Given the description of an element on the screen output the (x, y) to click on. 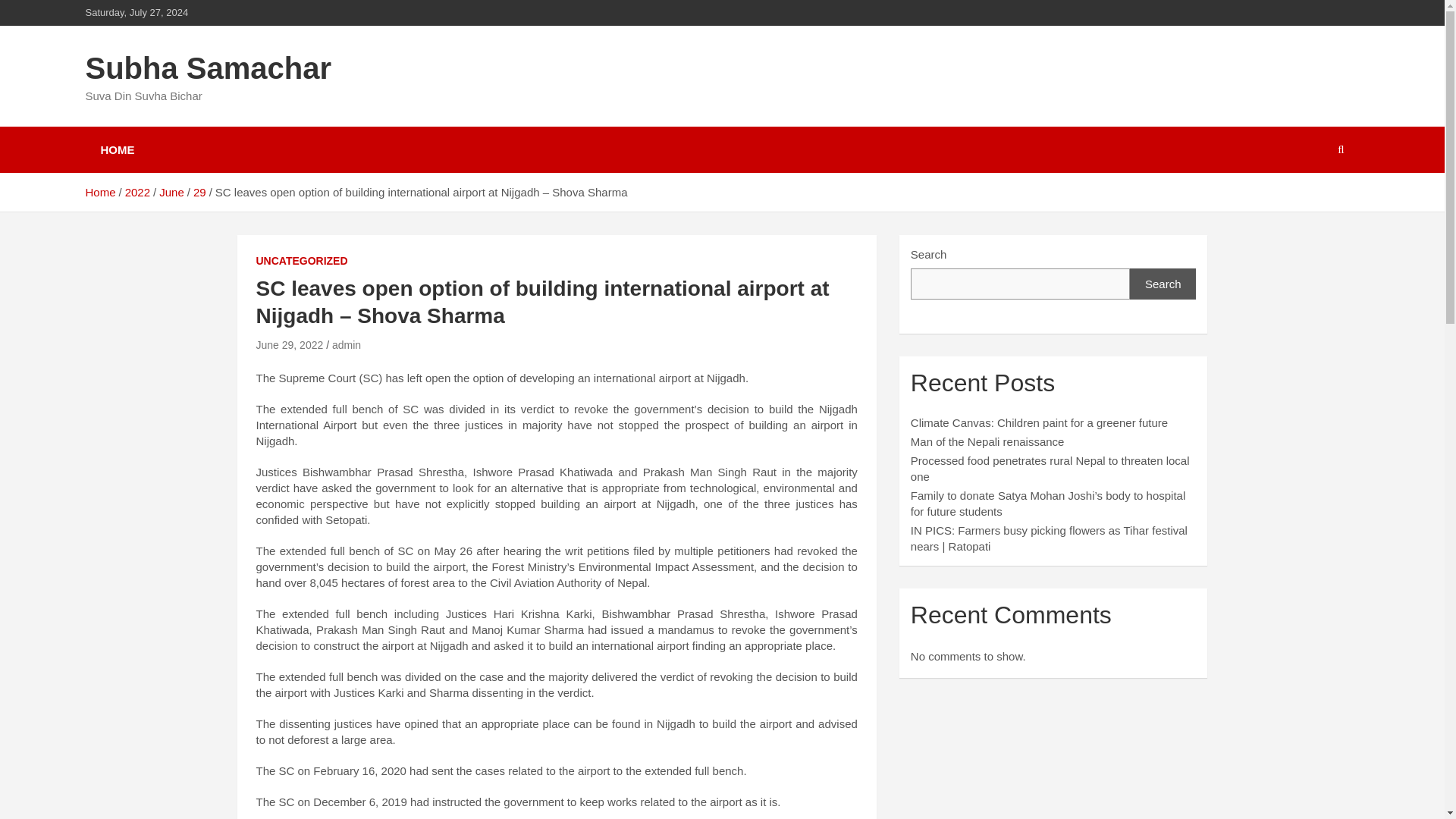
admin (346, 345)
2022 (137, 192)
UNCATEGORIZED (301, 261)
June 29, 2022 (289, 345)
HOME (116, 149)
Climate Canvas: Children paint for a greener future (1039, 422)
Subha Samachar (207, 68)
Man of the Nepali renaissance (987, 440)
Processed food penetrates rural Nepal to threaten local one (1050, 468)
Home (99, 192)
Search (1162, 283)
29 (199, 192)
June (171, 192)
